Given the description of an element on the screen output the (x, y) to click on. 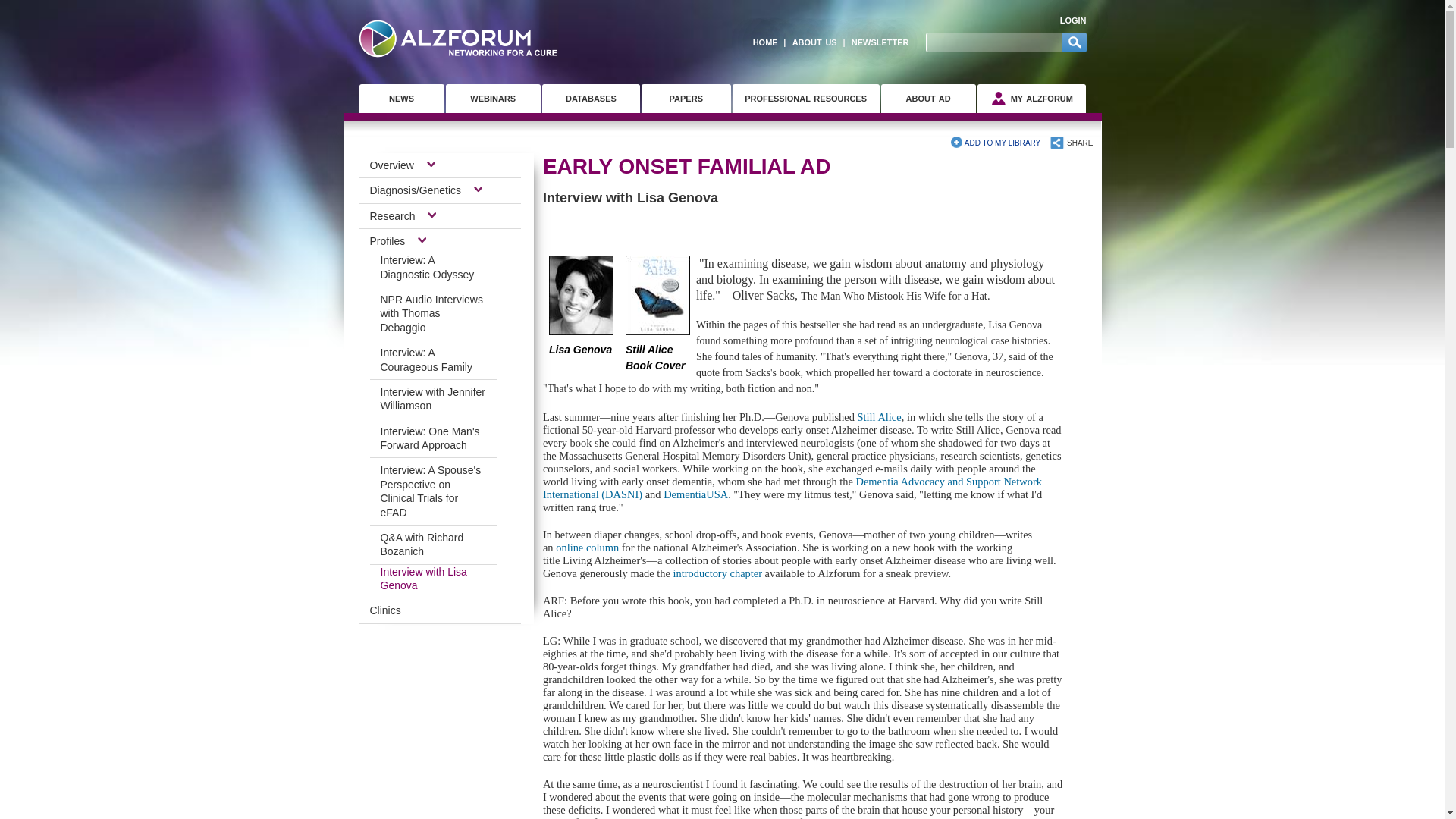
ADD TO MY LIBRARY (995, 142)
Home (457, 38)
Overview (397, 164)
DementiaUSA (695, 494)
Still Alice (879, 417)
Add this post to my library (995, 142)
Go (1073, 42)
The Landing page for All News (401, 98)
introductory chapter (716, 573)
online column (587, 547)
